Given the description of an element on the screen output the (x, y) to click on. 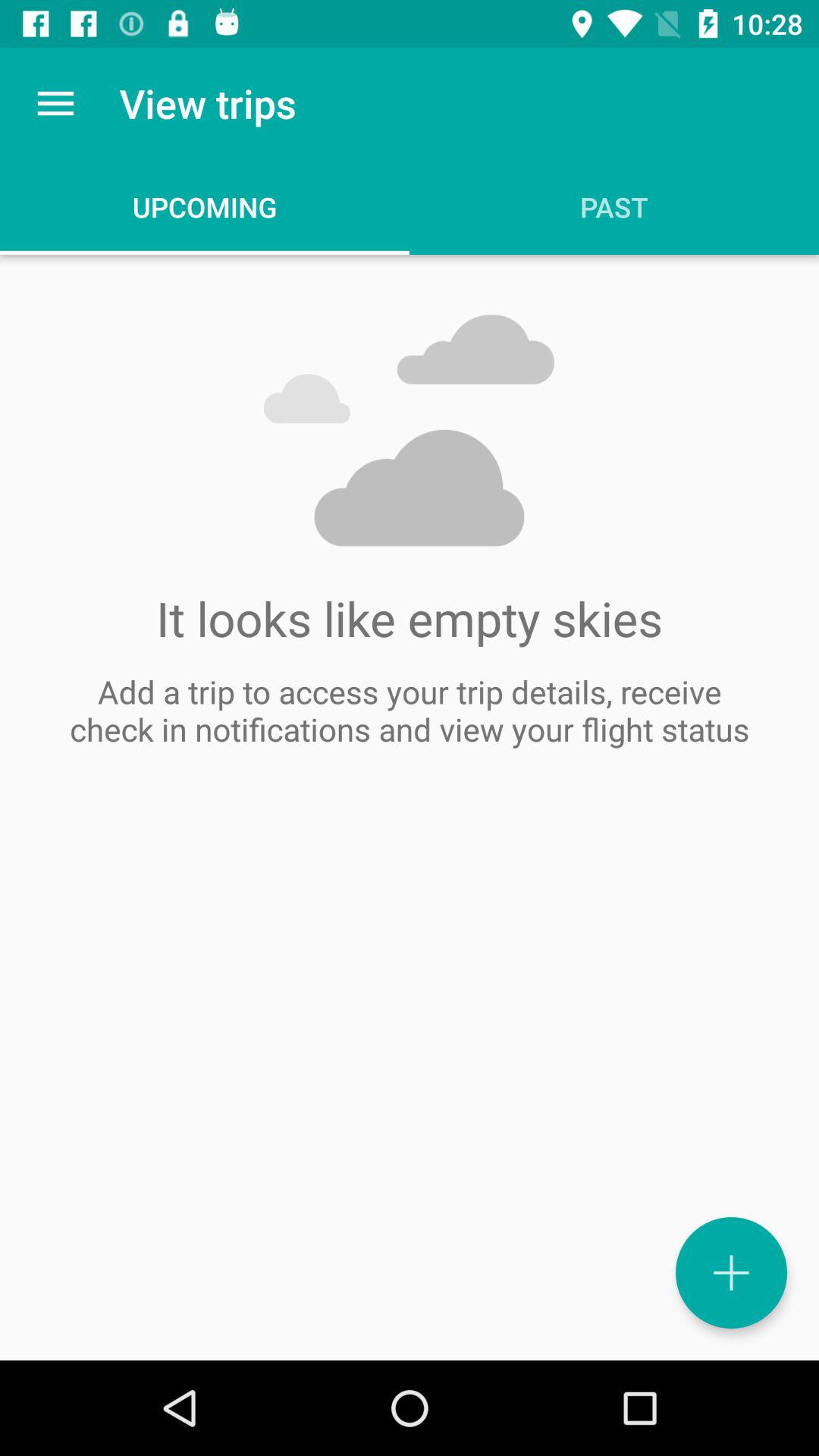
turn on icon above the add a trip (55, 103)
